Given the description of an element on the screen output the (x, y) to click on. 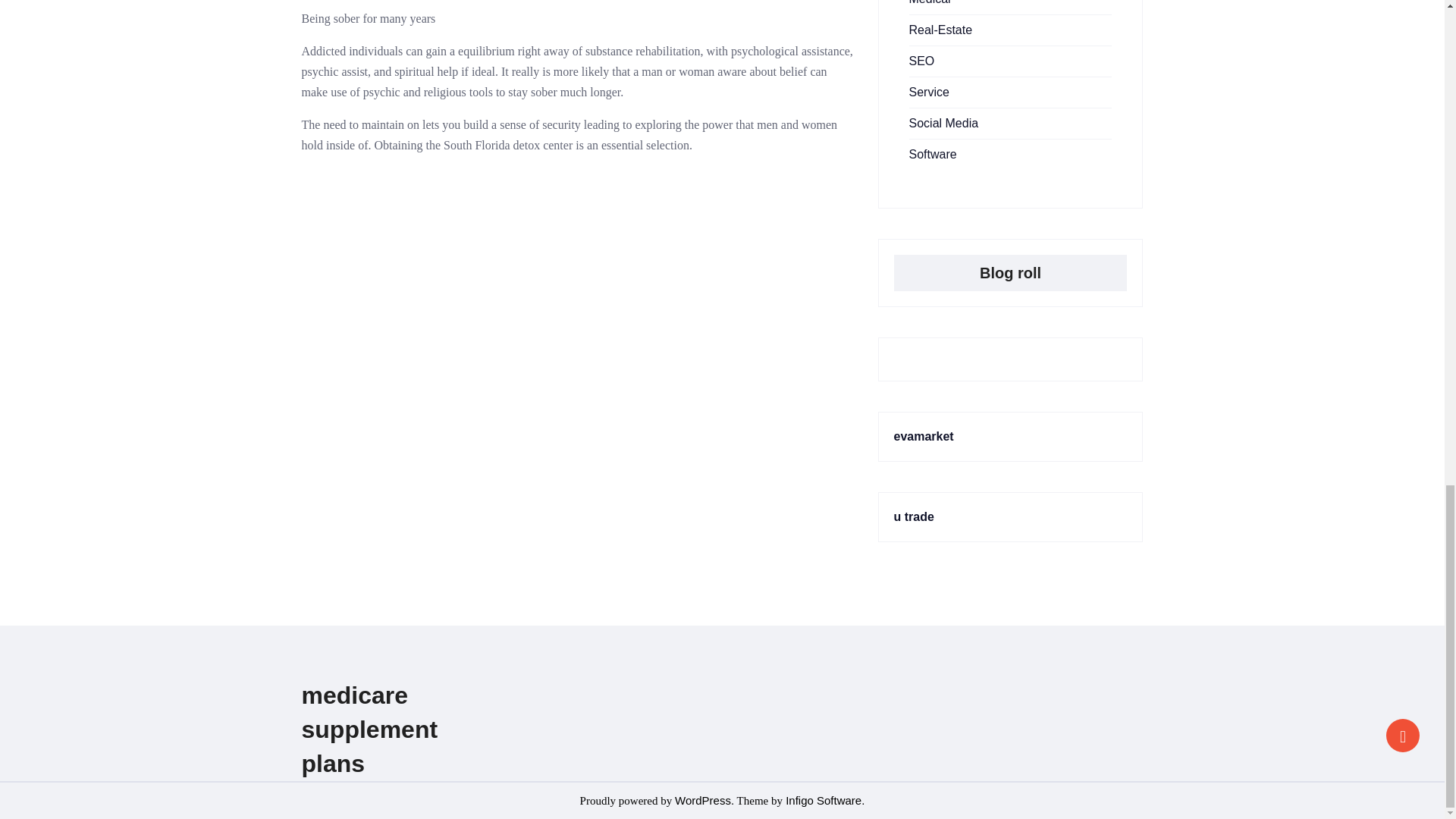
Infigo Software. (823, 799)
evamarket (923, 436)
Service (928, 91)
Social Media (943, 123)
Real-Estate (940, 29)
Software (932, 154)
u trade (913, 516)
Medical (929, 2)
medicare supplement plans (369, 729)
WordPress. (704, 799)
